Given the description of an element on the screen output the (x, y) to click on. 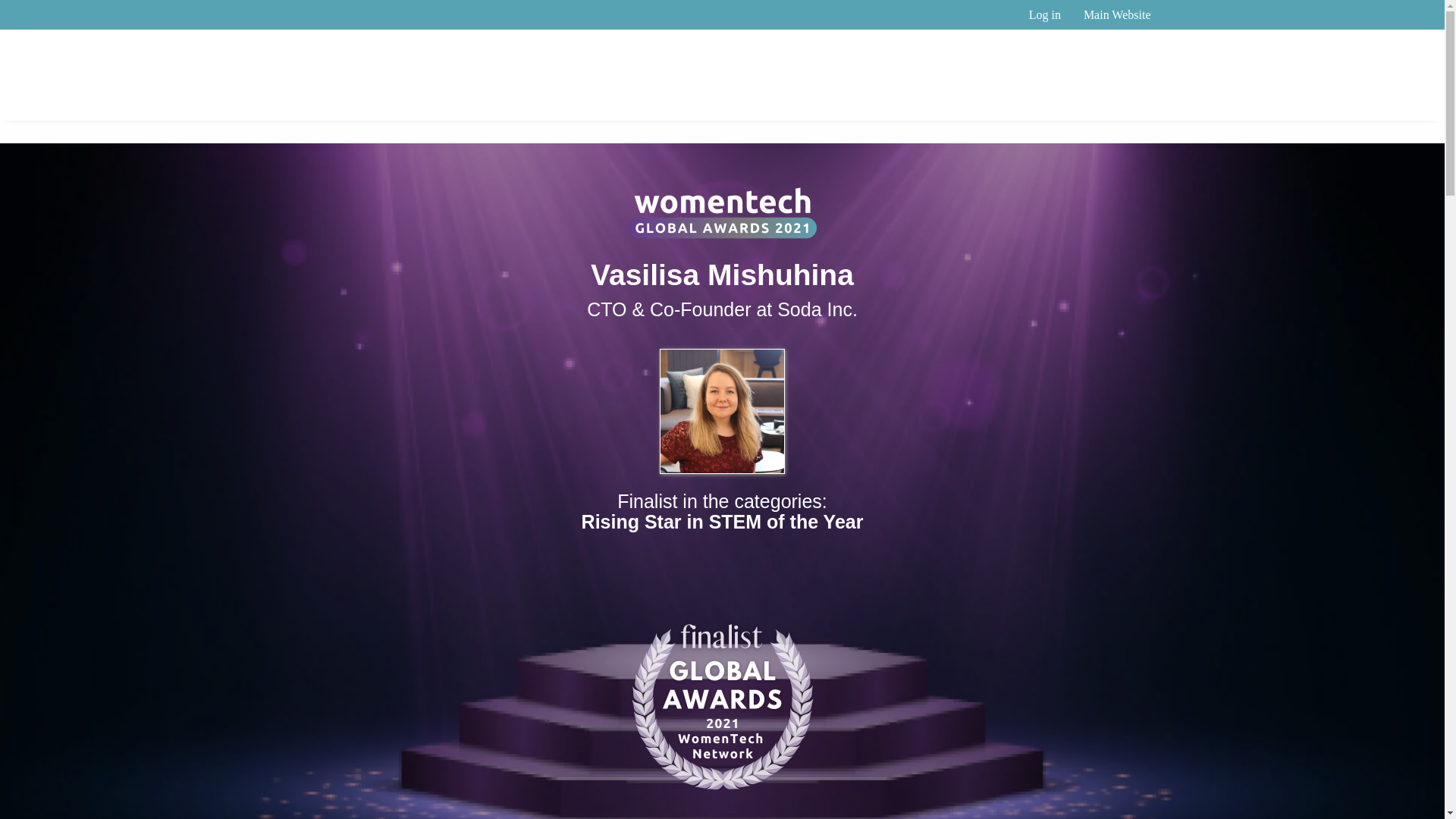
Log in (1044, 14)
Nominee (1093, 103)
Main Website (1116, 14)
1623509937142.jpeg (721, 411)
